Given the description of an element on the screen output the (x, y) to click on. 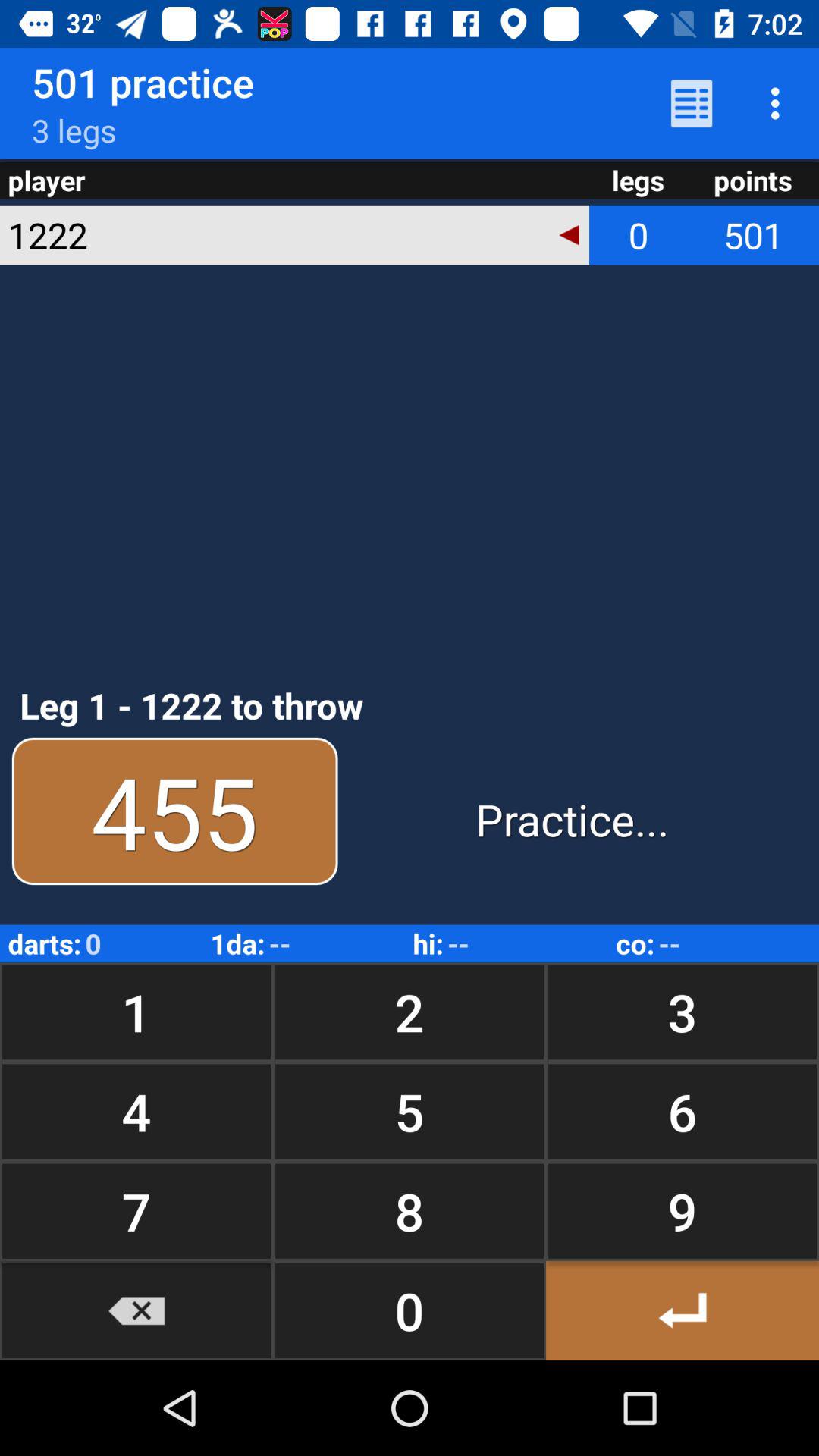
toggle space bar (682, 1310)
